Given the description of an element on the screen output the (x, y) to click on. 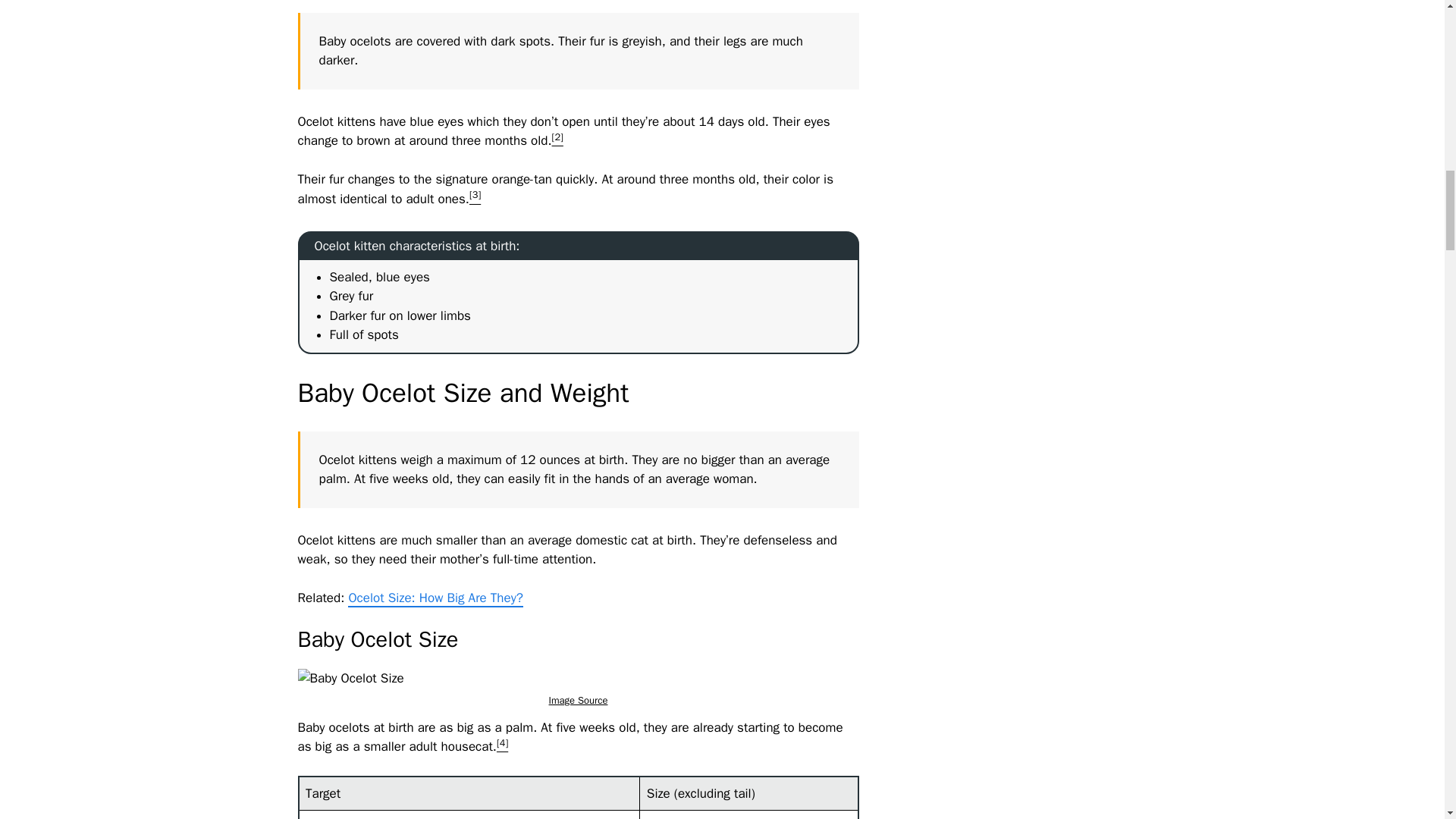
Image Source (578, 699)
Ocelot Size: How Big Are They? (434, 598)
Baby Ocelots: Everything to Know About Ocelot Kittens (350, 678)
